Given the description of an element on the screen output the (x, y) to click on. 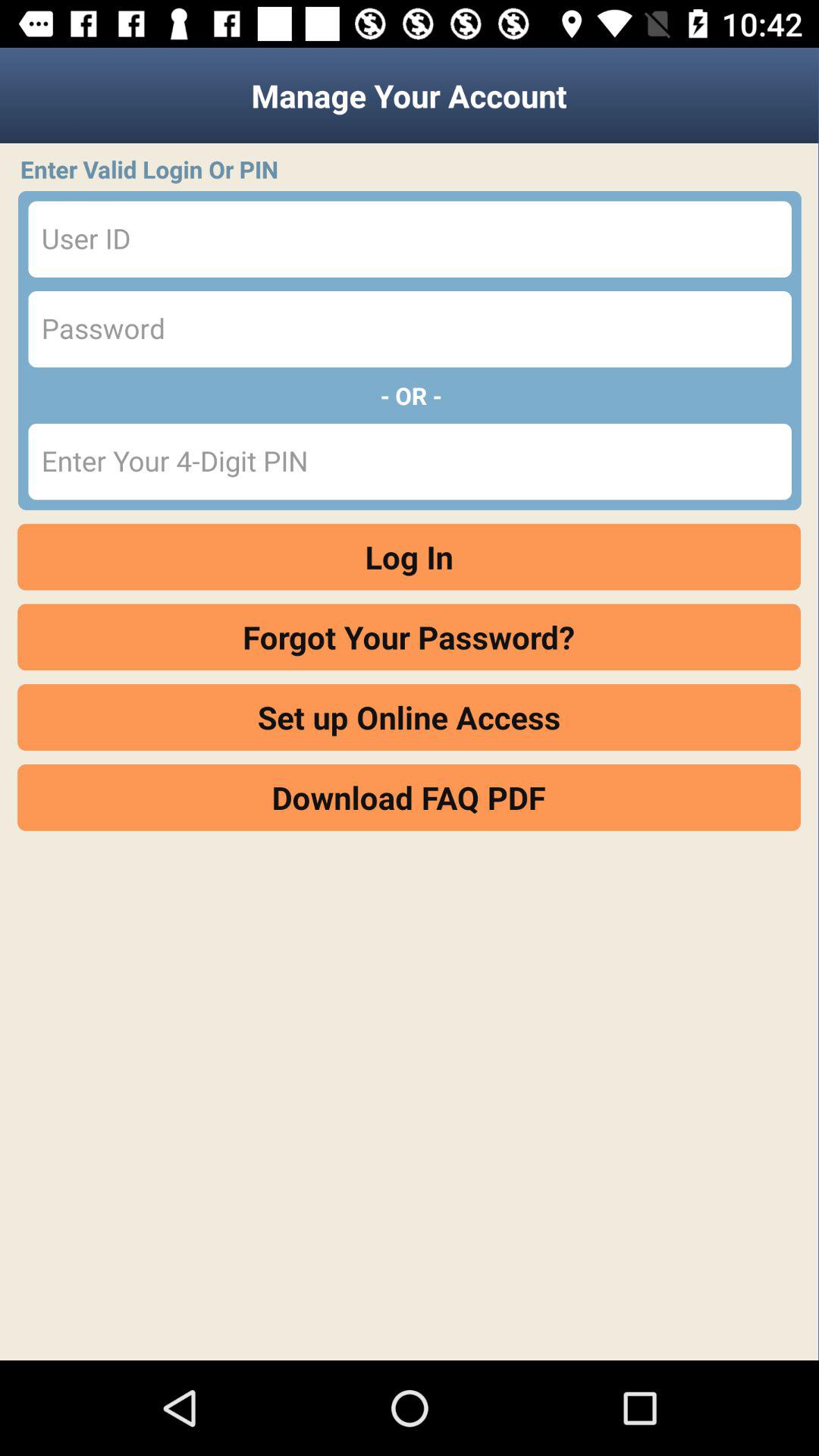
user id area (409, 239)
